Given the description of an element on the screen output the (x, y) to click on. 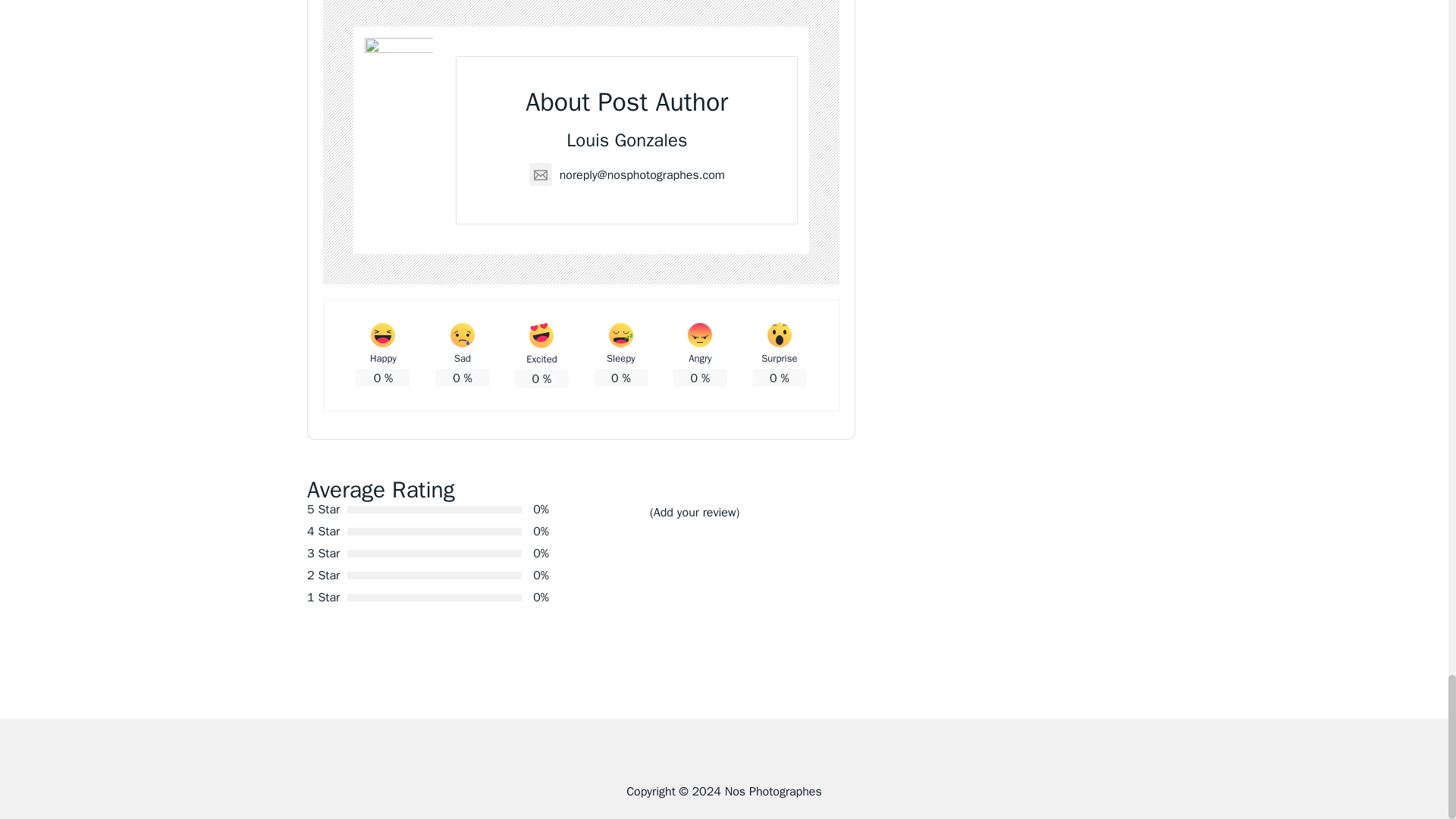
Louis Gonzales (626, 139)
